Given the description of an element on the screen output the (x, y) to click on. 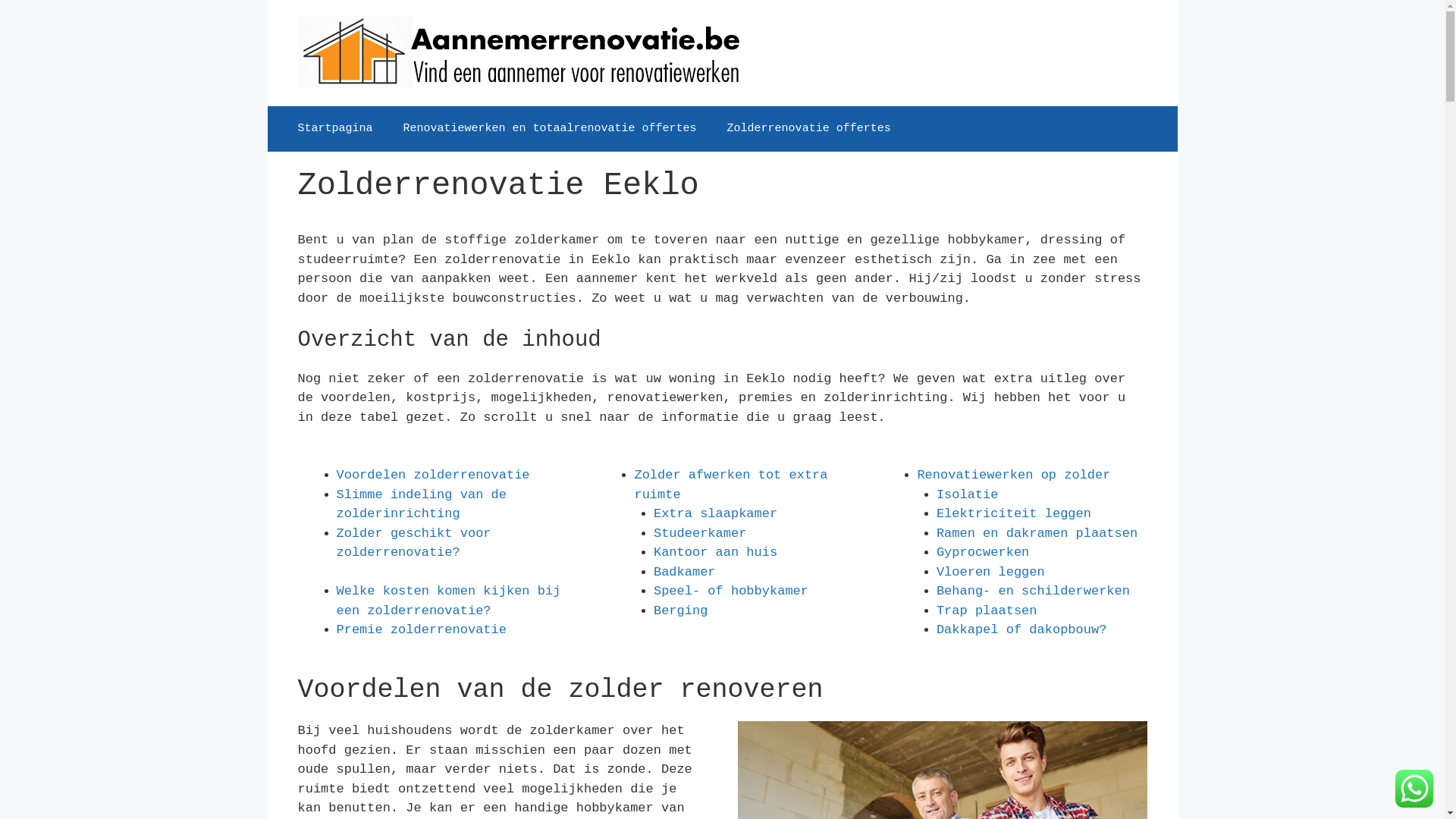
Extra slaapkamer Element type: text (715, 513)
Renovatiewerken op zolder Element type: text (1013, 474)
Kantoor aan huis Element type: text (715, 552)
Berging Element type: text (680, 610)
Behang- en schilderwerken Element type: text (1032, 590)
Studeerkamer Element type: text (699, 533)
Speel- of hobbykamer Element type: text (730, 590)
Startpagina Element type: text (334, 128)
Vloeren leggen Element type: text (990, 571)
Zolder geschikt voor zolderrenovatie? Element type: text (413, 543)
Renovatiewerken en totaalrenovatie offertes Element type: text (550, 128)
Voordelen zolderrenovatie Element type: text (433, 474)
Welke kosten komen kijken bij een zolderrenovatie? Element type: text (448, 600)
Slimme indeling van de zolderinrichting Element type: text (421, 504)
Dakkapel of dakopbouw? Element type: text (1021, 629)
Trap plaatsen Element type: text (986, 610)
Badkamer Element type: text (684, 571)
Elektriciteit leggen Element type: text (1013, 513)
Isolatie Element type: text (967, 494)
Ramen en dakramen plaatsen Element type: text (1036, 533)
Zolder afwerken tot extra ruimte Element type: text (730, 484)
Gyprocwerken Element type: text (982, 552)
Premie zolderrenovatie Element type: text (421, 629)
Zolderrenovatie offertes Element type: text (809, 128)
